Given the description of an element on the screen output the (x, y) to click on. 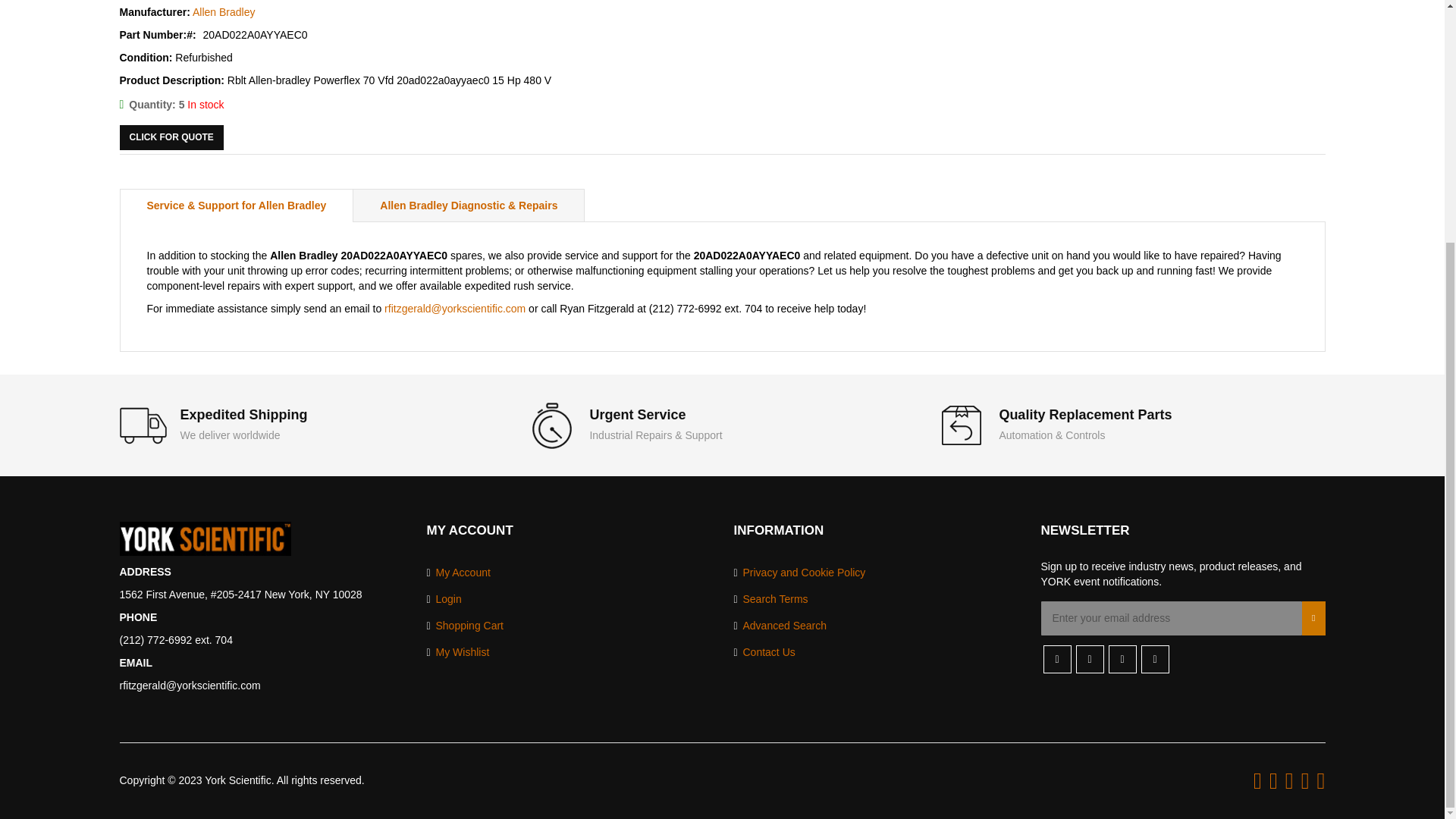
Search Terms (770, 599)
Login (443, 599)
Shopping Cart (464, 625)
Privacy and Cookie Policy (799, 572)
Contact Us (763, 652)
My Account (457, 572)
My Wishlist (457, 652)
Advanced Search (780, 625)
Availability (171, 104)
Allen Bradley (224, 11)
